Given the description of an element on the screen output the (x, y) to click on. 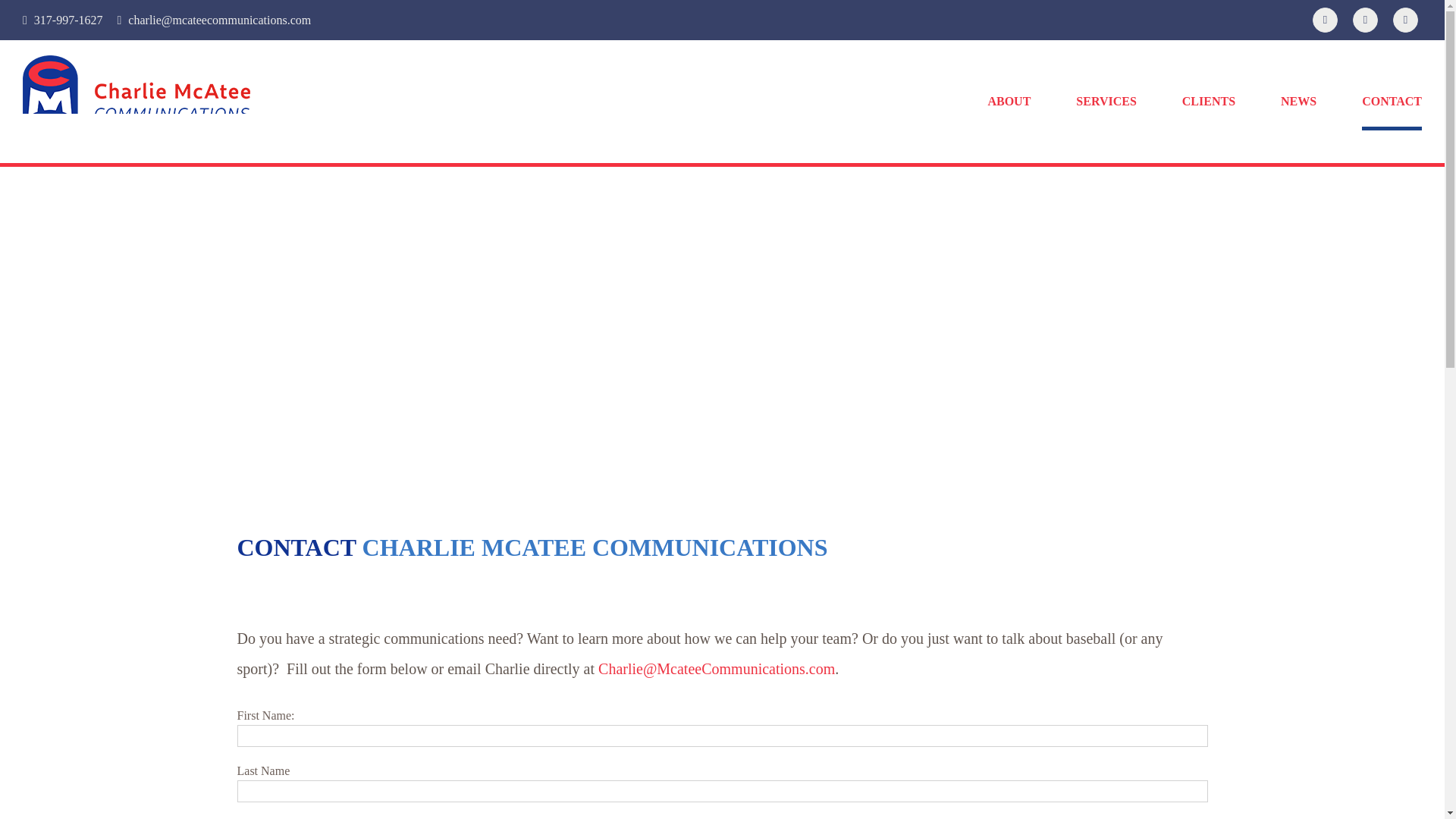
LinkedIn (1405, 19)
Twitter (1364, 19)
Facebook (1325, 19)
317-997-1627 (68, 19)
LinkedIn (1405, 19)
Twitter (1364, 19)
Facebook (1325, 19)
